Given the description of an element on the screen output the (x, y) to click on. 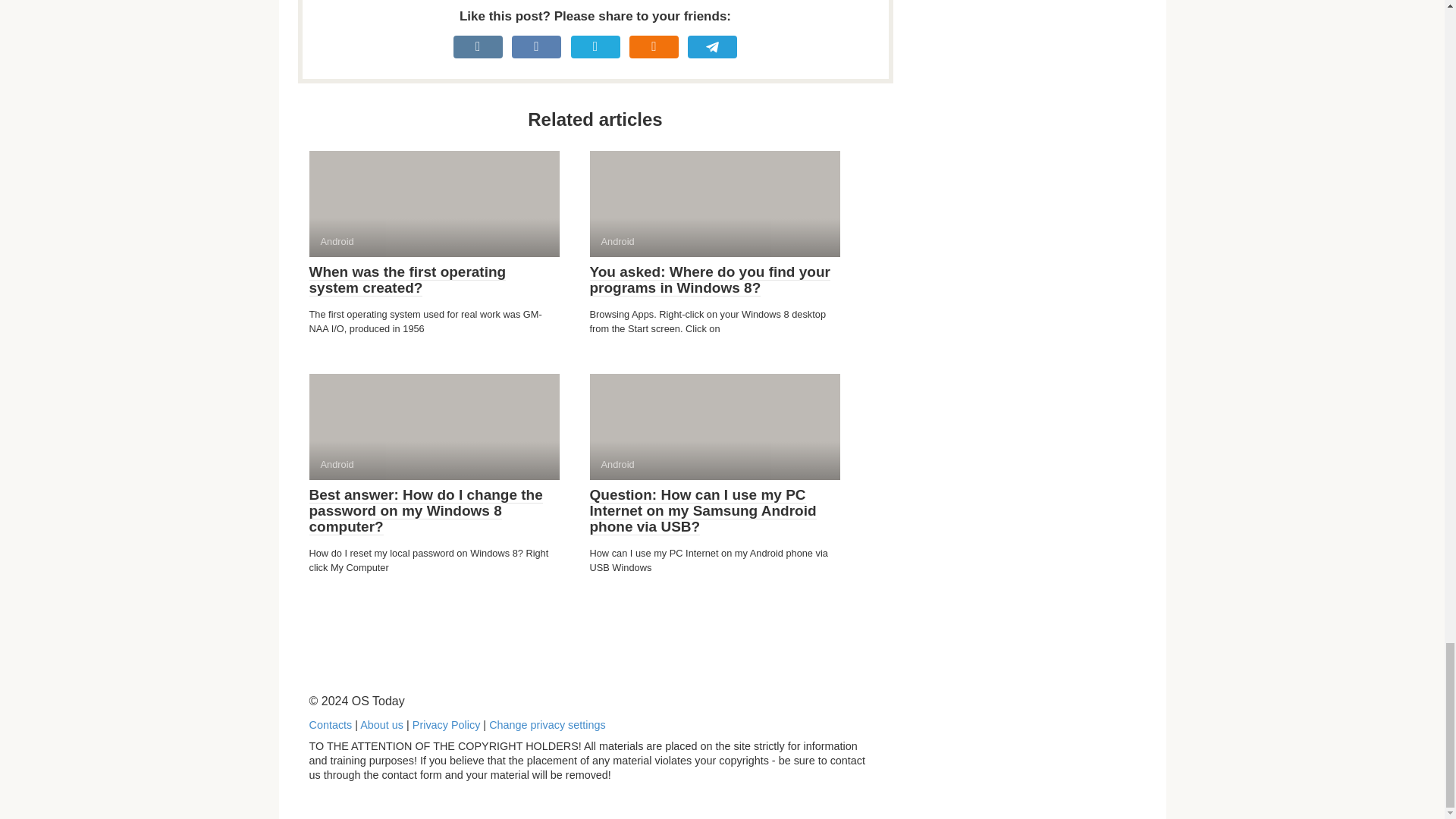
Android (714, 426)
When was the first operating system created? (407, 279)
Android (433, 426)
You asked: Where do you find your programs in Windows 8? (709, 279)
Android (714, 203)
Android (433, 203)
DMCA.com Protection Status (1021, 789)
